Given the description of an element on the screen output the (x, y) to click on. 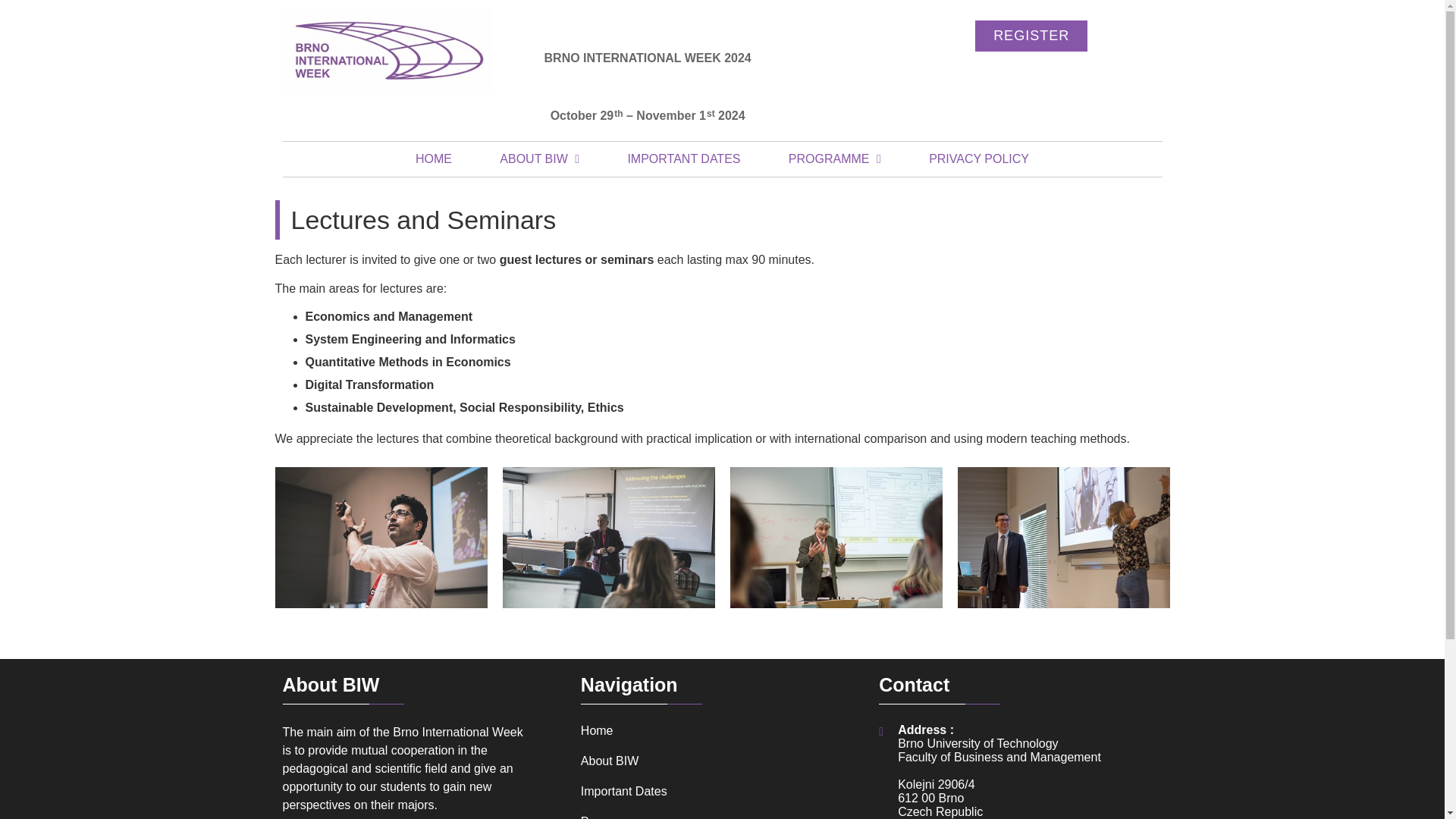
Brno International Week (386, 50)
Registration (1031, 35)
About BIW (721, 761)
Privacy Policy (979, 158)
Important Dates (721, 791)
Home (433, 158)
Important Dates (683, 158)
Programme (721, 816)
HOME (433, 158)
About BIW (721, 761)
